Given the description of an element on the screen output the (x, y) to click on. 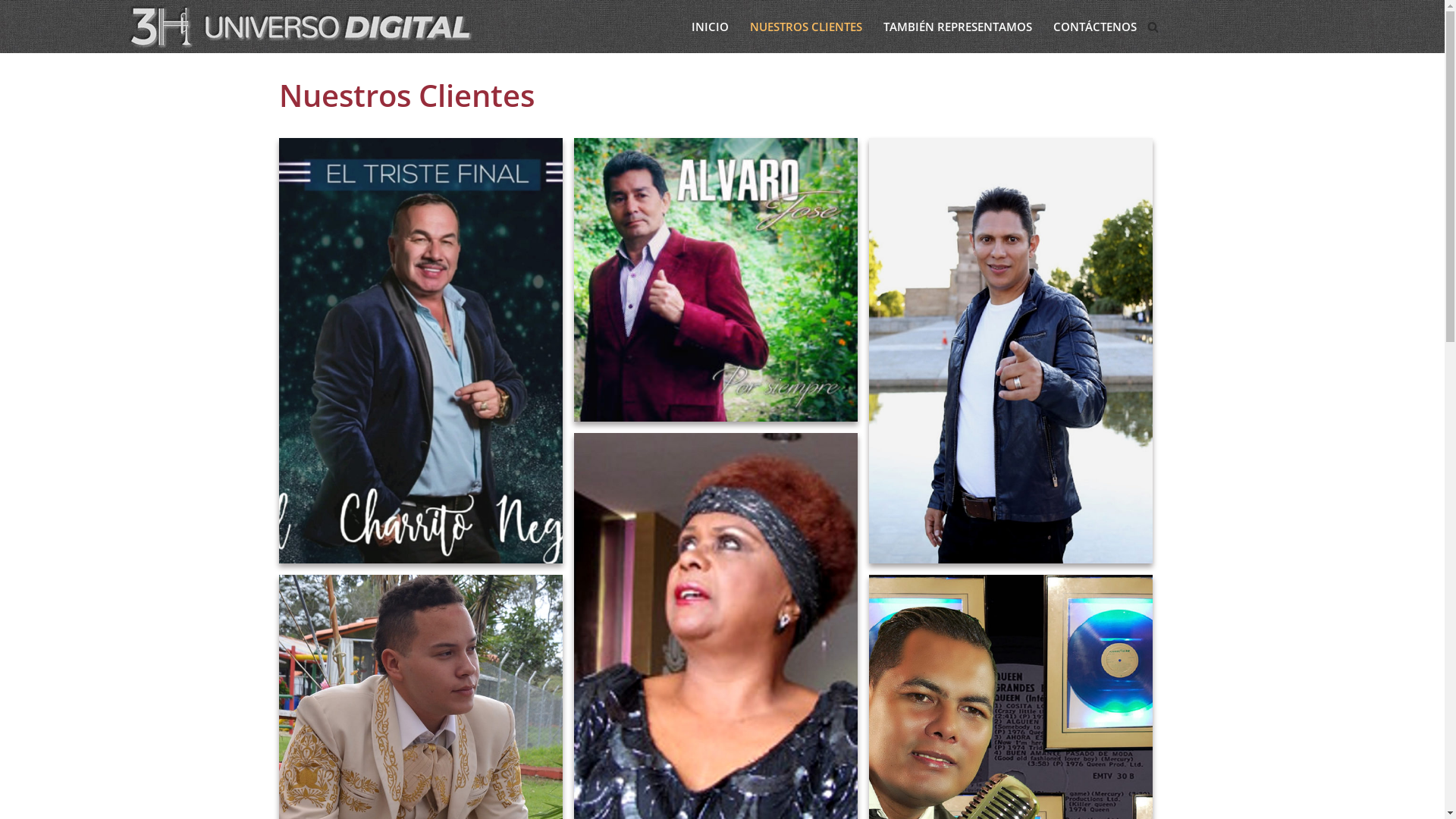
NUESTROS CLIENTES Element type: text (805, 25)
EL CHARRITO NEGRO Element type: hover (420, 350)
INICIO Element type: text (709, 25)
Saltar al contenido Element type: text (11, 31)
ALVARO RIOS Element type: hover (1010, 350)
